Given the description of an element on the screen output the (x, y) to click on. 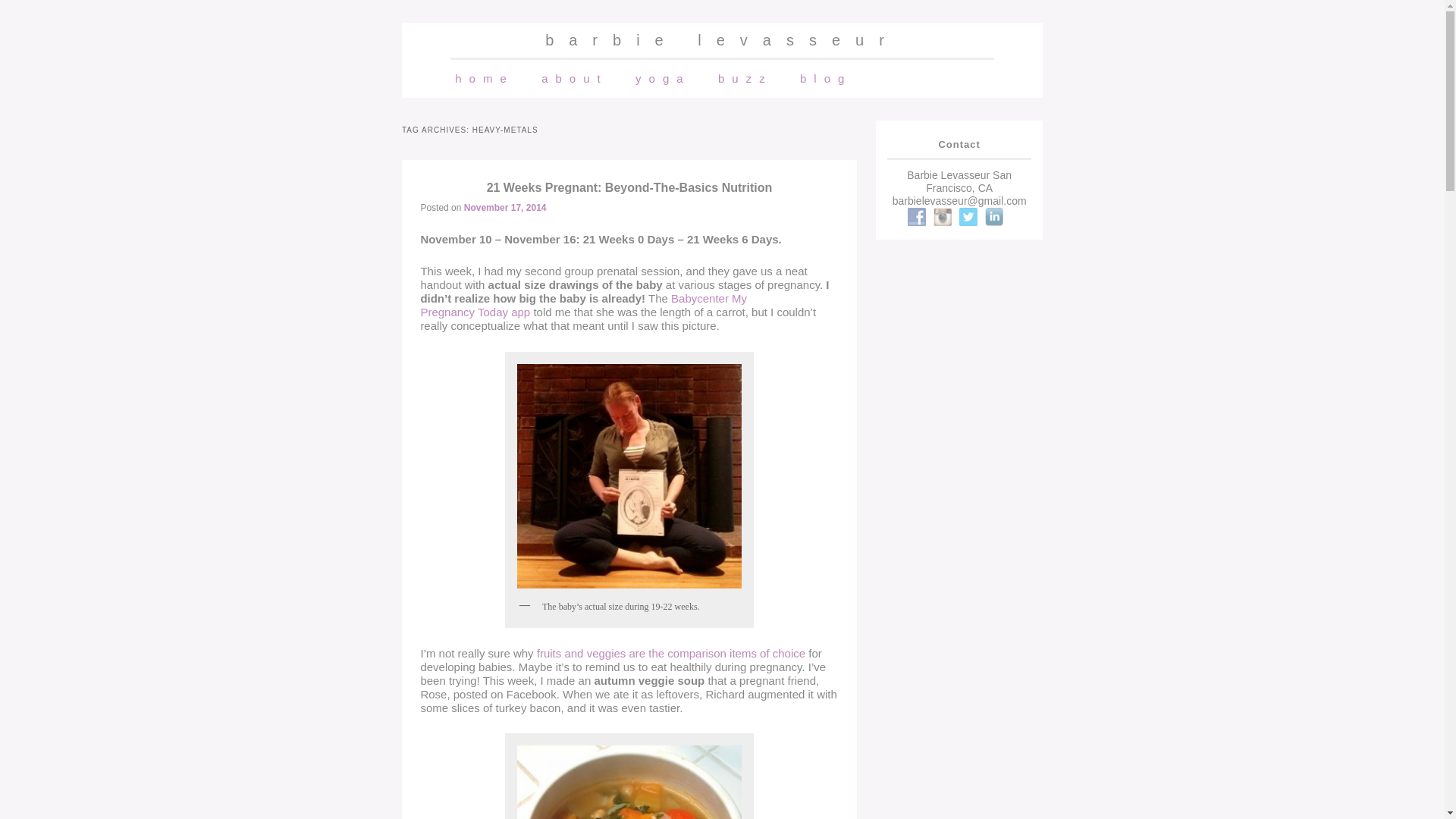
Follow me on Facebook (916, 217)
My Pregnancy Today (583, 304)
fruits and veggies are the comparison items of choice (670, 653)
buzz (745, 78)
November 17, 2014 (505, 207)
barbie levasseur (721, 39)
How big is baby? (670, 653)
blog (826, 78)
Babycenter My Pregnancy Today app (583, 304)
21 Weeks Pregnant: Beyond-The-Basics Nutrition (629, 187)
Follow me on Instagram (942, 217)
home (484, 78)
barbie levasseur (721, 39)
